Given the description of an element on the screen output the (x, y) to click on. 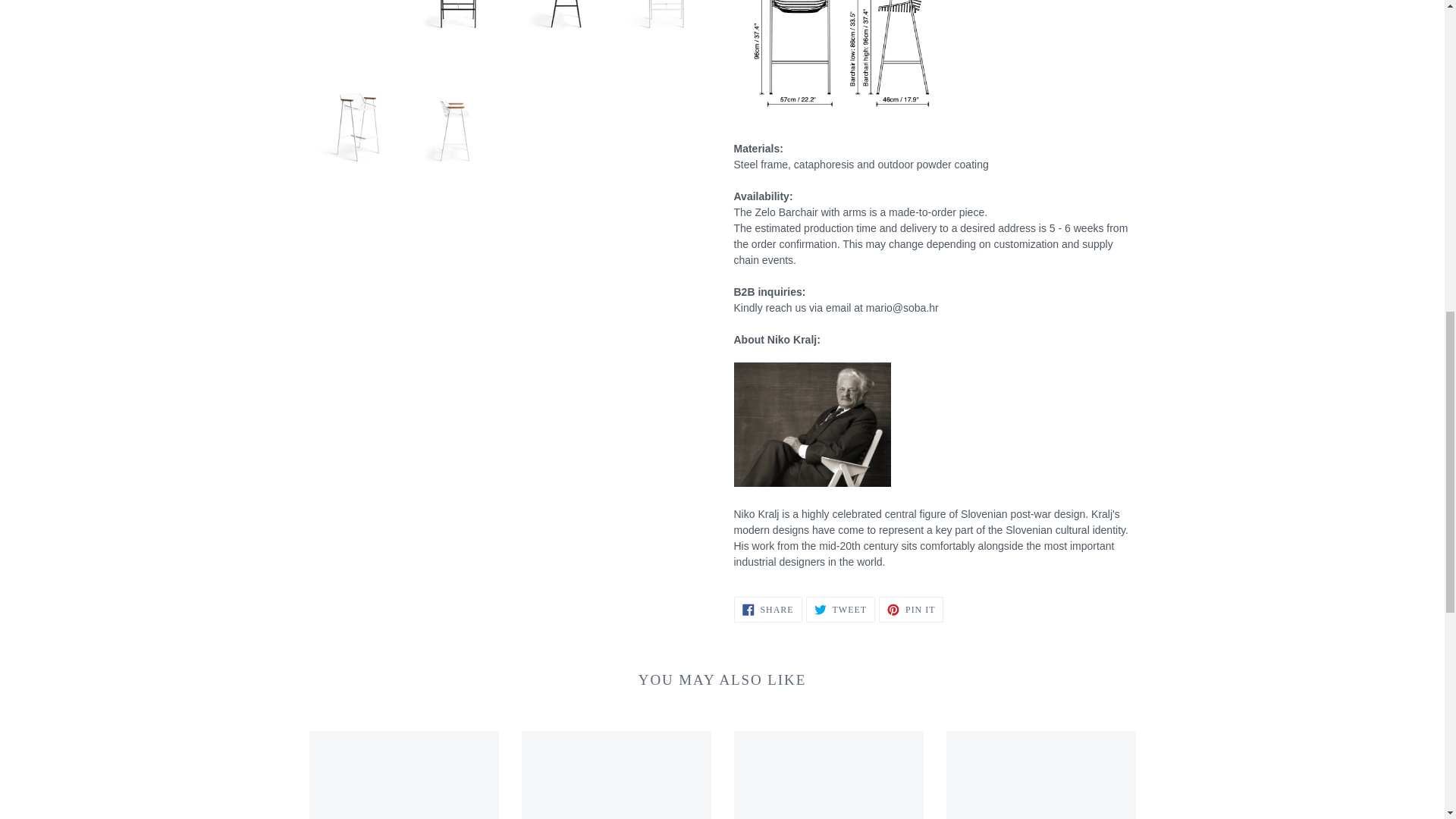
Rex Chair by Niko Kralj (828, 775)
Zelo Stackable Chair by Tom Fereday x Rex Kralj (911, 609)
Zelo Armchair Chair by Tom Fereday x Rex Kralj (840, 609)
